Given the description of an element on the screen output the (x, y) to click on. 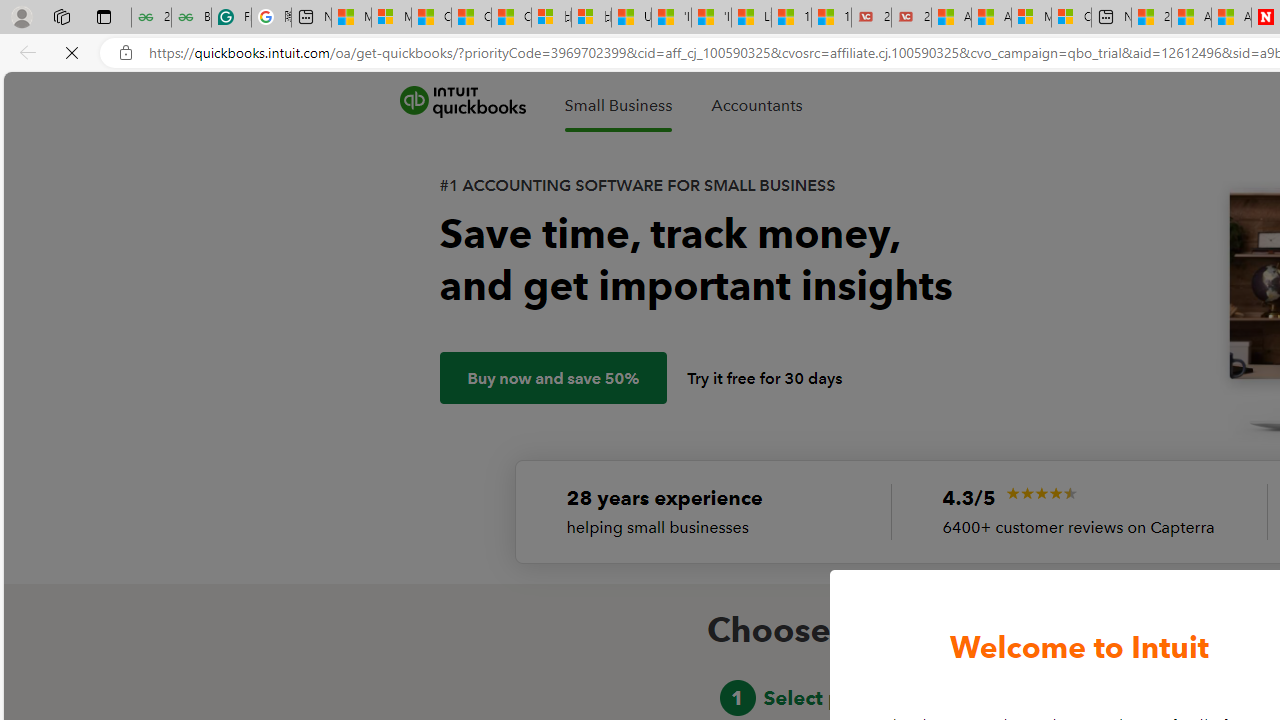
Try it free for 30 days (765, 378)
Accountants (756, 105)
15 Ways Modern Life Contradicts the Teachings of Jesus (831, 17)
